Given the description of an element on the screen output the (x, y) to click on. 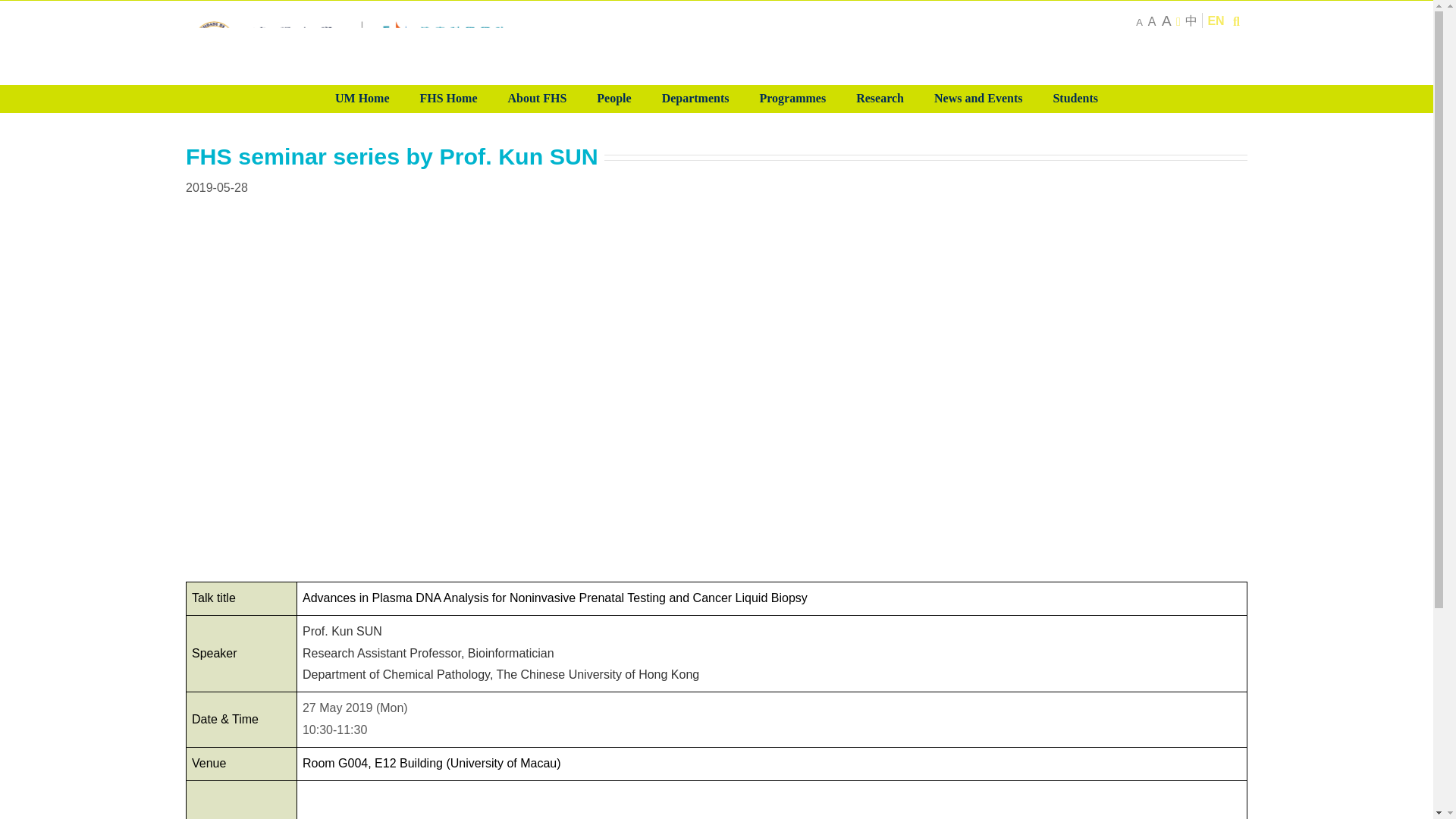
People (613, 98)
About FHS (537, 98)
FHS Home (448, 98)
UM Home (362, 98)
EN (1215, 20)
